Given the description of an element on the screen output the (x, y) to click on. 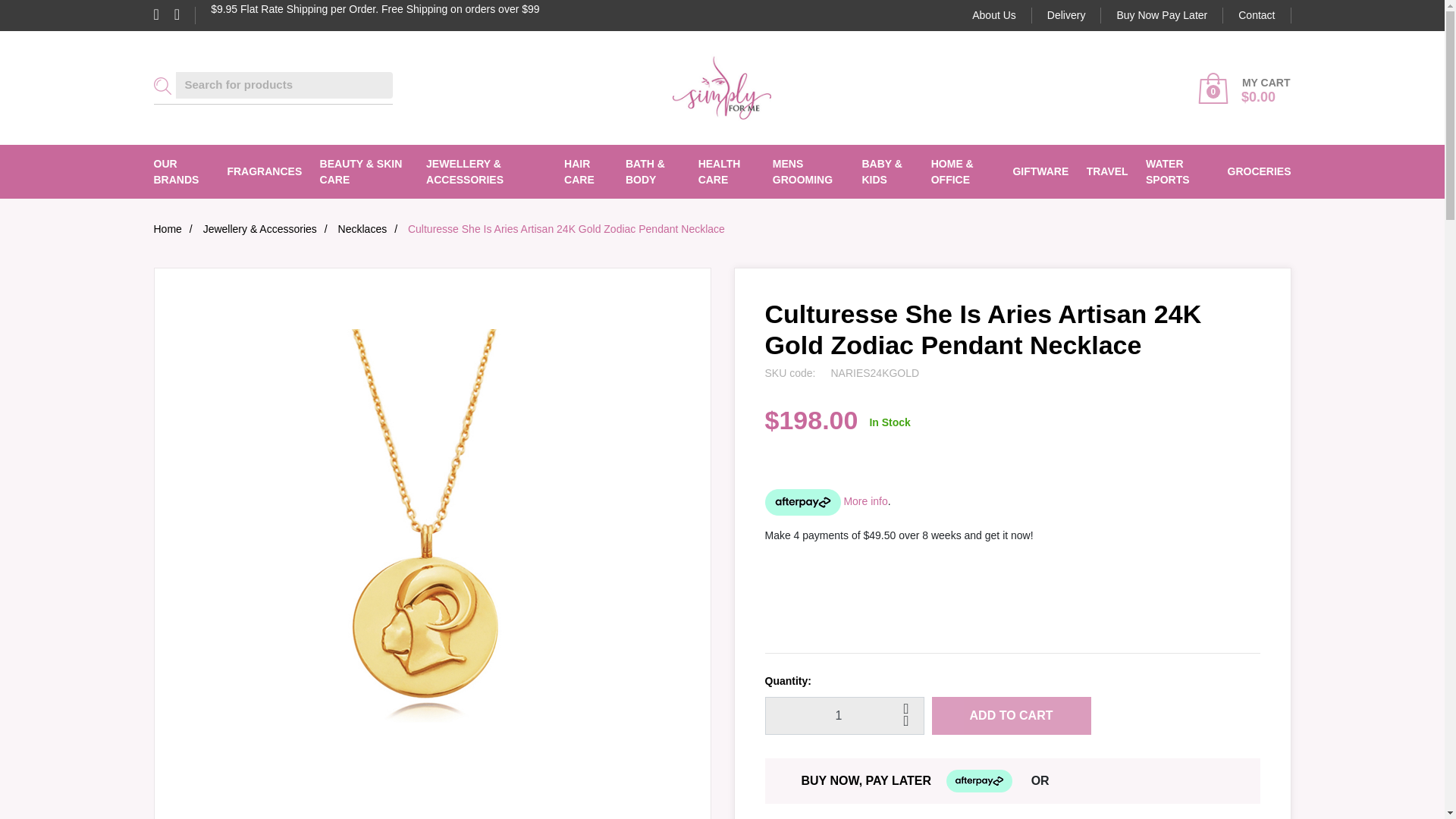
Delivery (1067, 15)
Instagram (184, 15)
Help widget launcher (1368, 781)
Facebook (162, 15)
About Us (994, 15)
Contact (1256, 15)
Simply for Me on Instagram (184, 15)
Simply for Me on Facebook (162, 15)
1 (843, 715)
PayPal Message 1 (1017, 562)
